Given the description of an element on the screen output the (x, y) to click on. 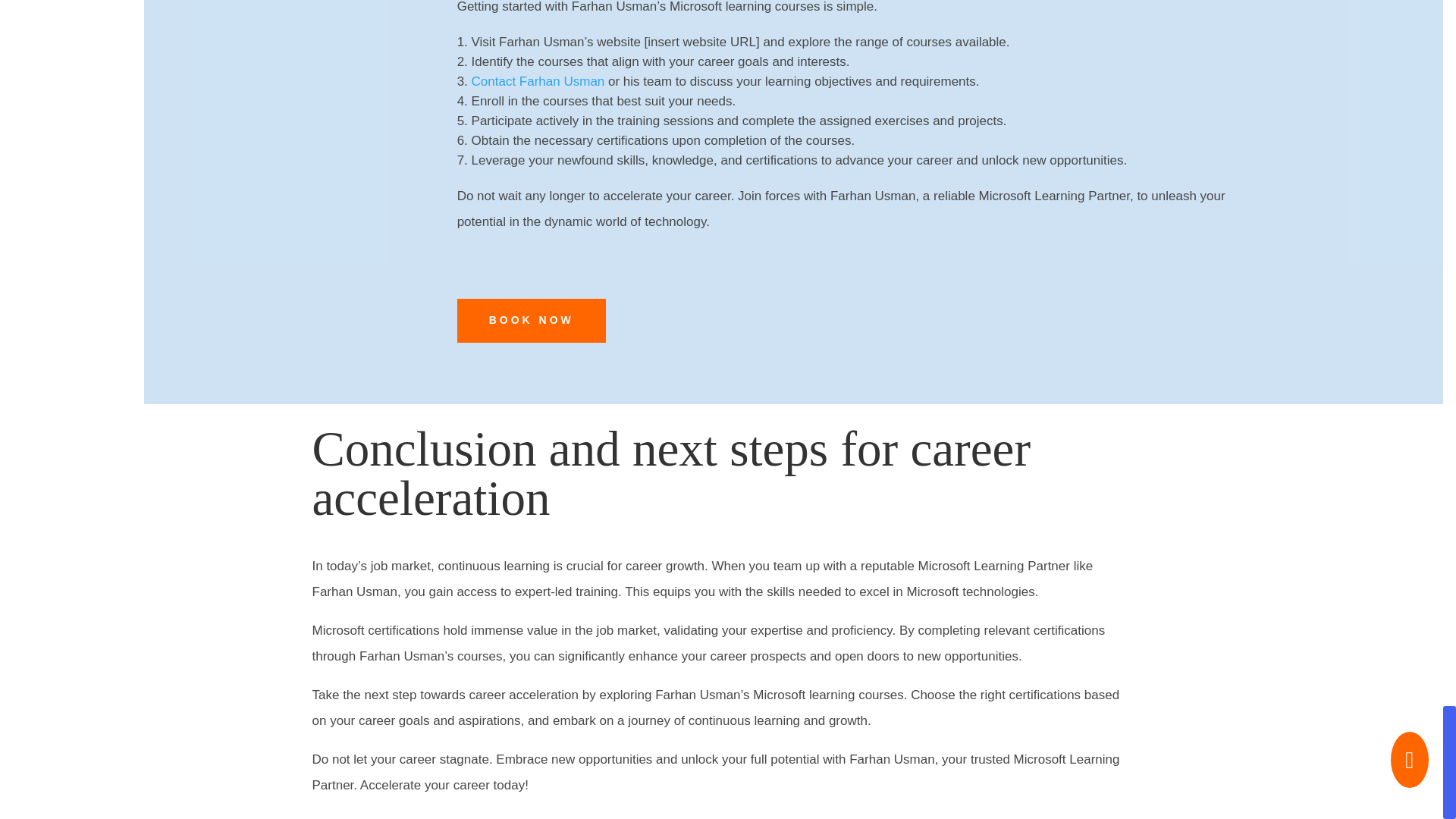
Contact Farhan Usman (538, 81)
BOOK NOW (531, 320)
